Given the description of an element on the screen output the (x, y) to click on. 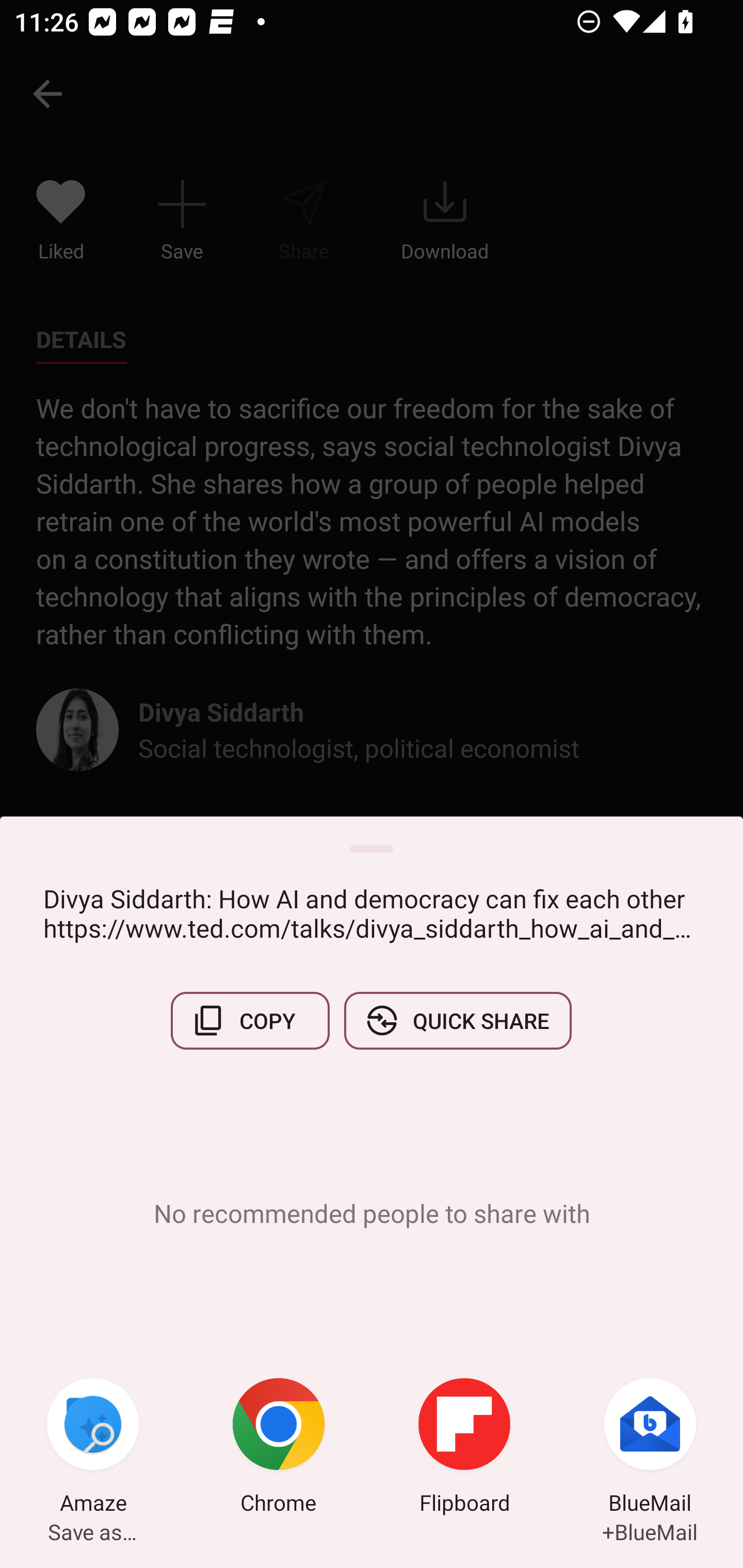
COPY (249, 1020)
QUICK SHARE (457, 1020)
Amaze Save as… (92, 1448)
Chrome (278, 1448)
Flipboard (464, 1448)
BlueMail +BlueMail (650, 1448)
